Given the description of an element on the screen output the (x, y) to click on. 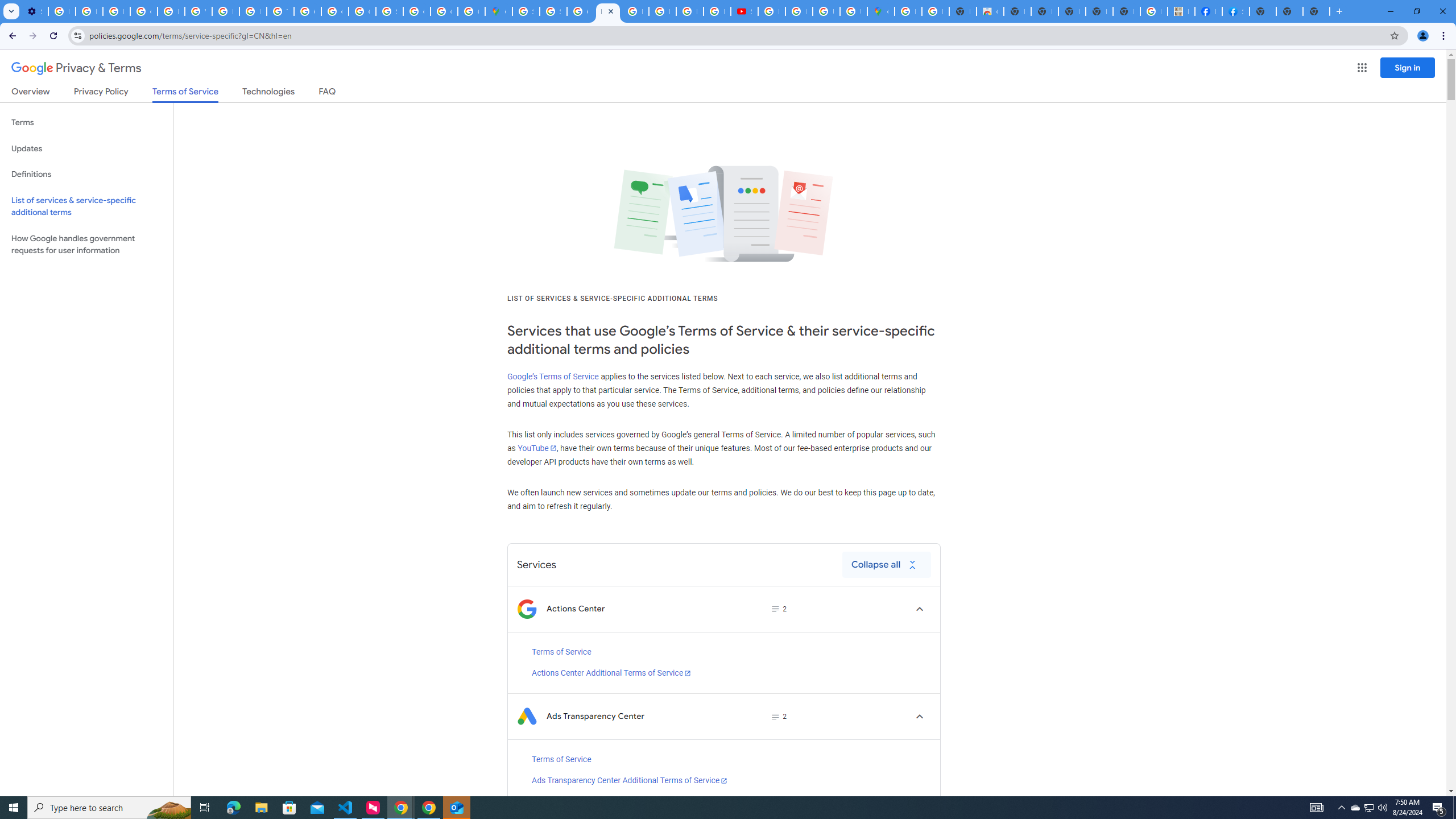
Google Maps (498, 11)
Logo for Ads Transparency Center (526, 716)
Collapse all (885, 564)
Google Maps (880, 11)
Sign Up for Facebook (1236, 11)
How Chrome protects your passwords - Google Chrome Help (771, 11)
